Given the description of an element on the screen output the (x, y) to click on. 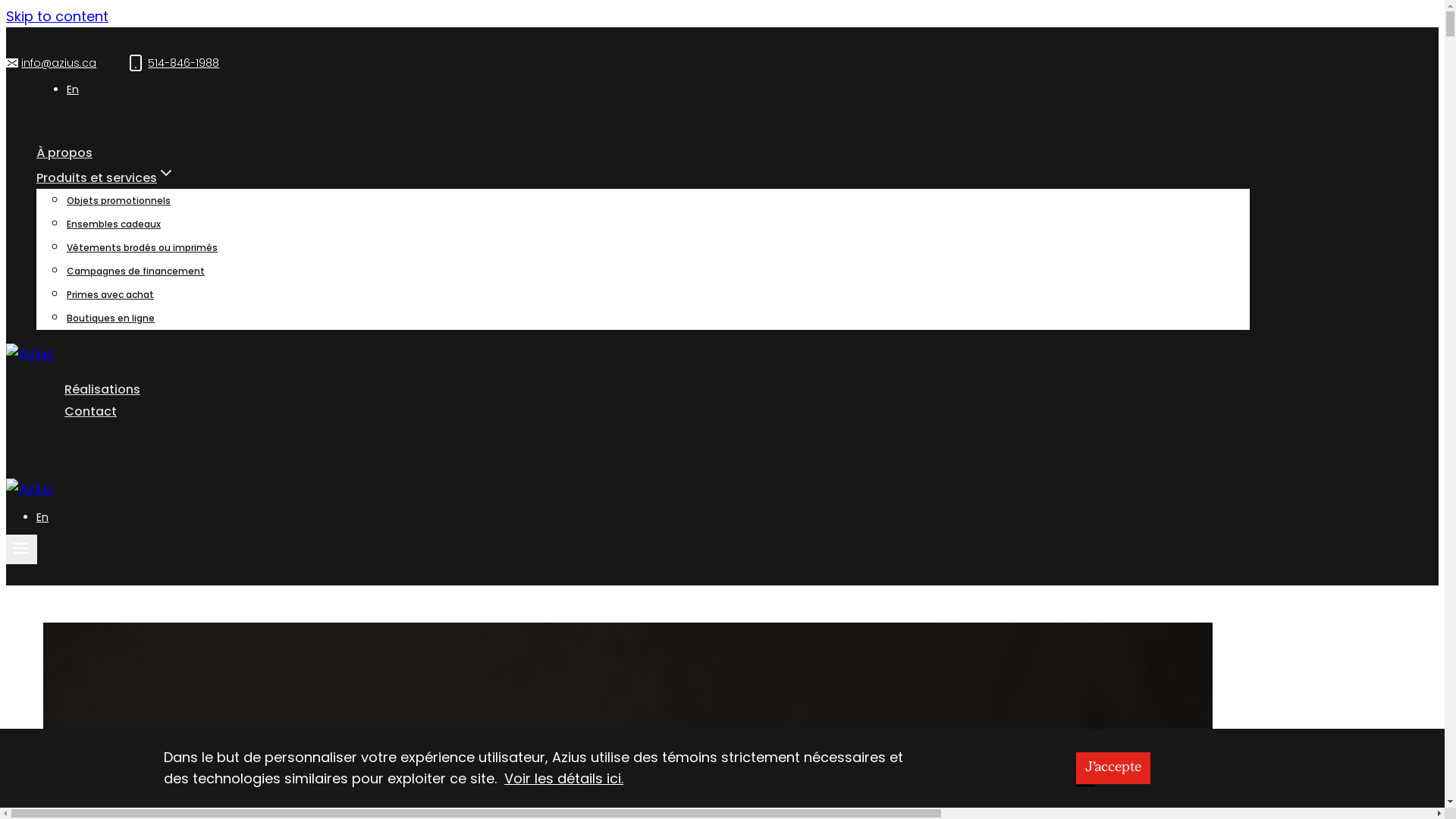
Contact Element type: text (76, 411)
Primes avec achat Element type: text (109, 294)
Ensembles cadeaux Element type: text (113, 223)
Email
info@azius.ca Element type: text (51, 62)
Campagnes de financement Element type: text (135, 270)
Objets promotionnels Element type: text (118, 200)
En Element type: text (72, 89)
Boutiques en ligne Element type: text (110, 317)
Skip to content Element type: text (57, 15)
Toggle Menu Element type: text (21, 549)
Telephone
514-846-1988 Element type: text (172, 62)
En Element type: text (42, 516)
Produits et servicesExpand Element type: text (119, 177)
